Given the description of an element on the screen output the (x, y) to click on. 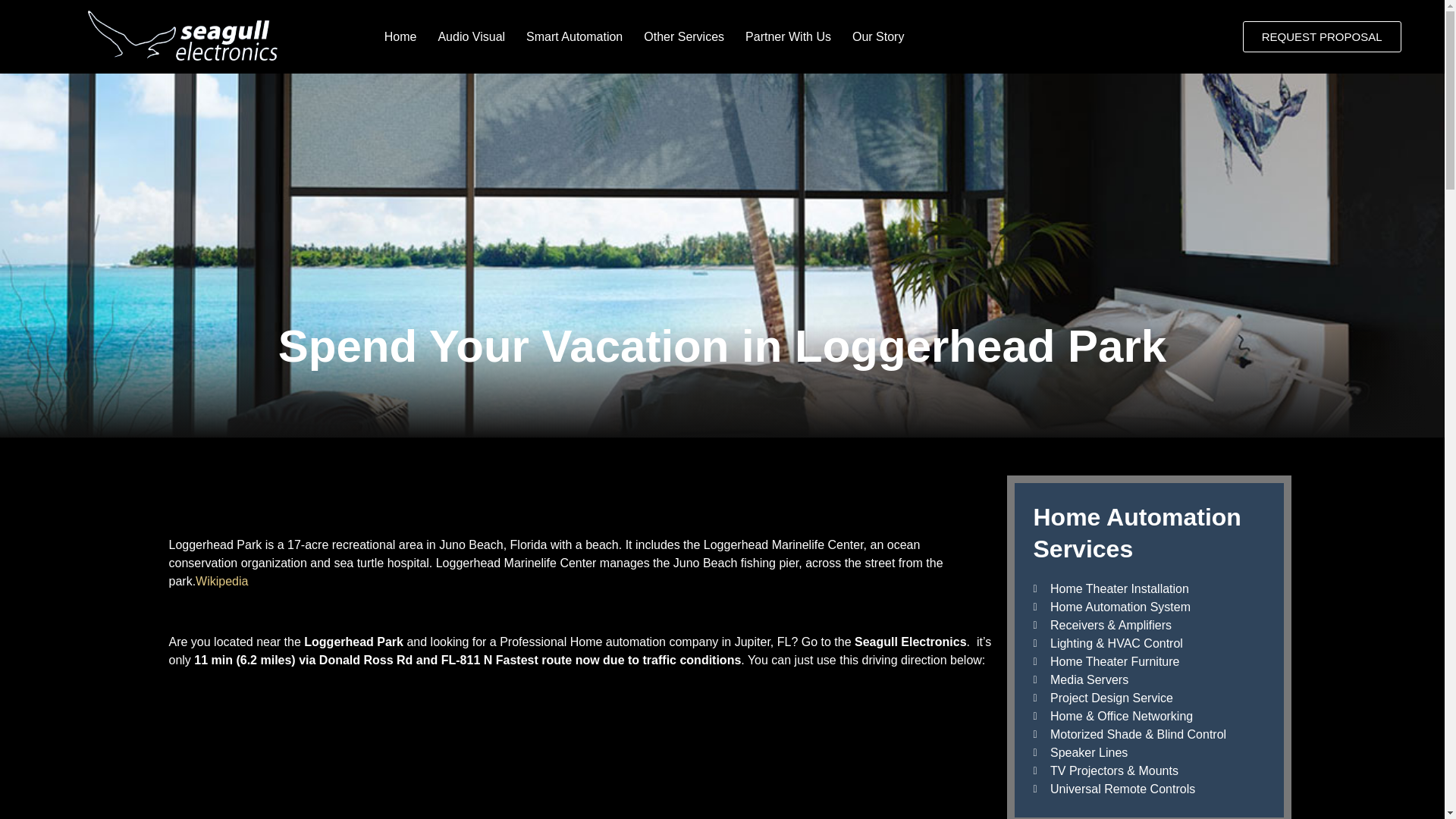
Home Automation System (1147, 607)
Partner With Us (788, 36)
Home (401, 36)
Our Story (877, 36)
Smart Automation (574, 36)
Project Design Service (1147, 698)
Home Theater Furniture (1147, 661)
Wikipedia (221, 581)
Speaker Lines (1147, 752)
REQUEST PROPOSAL (1321, 36)
Audio Visual (470, 36)
Other Services (684, 36)
Home Theater Installation (1147, 588)
Media Servers (1147, 679)
